Given the description of an element on the screen output the (x, y) to click on. 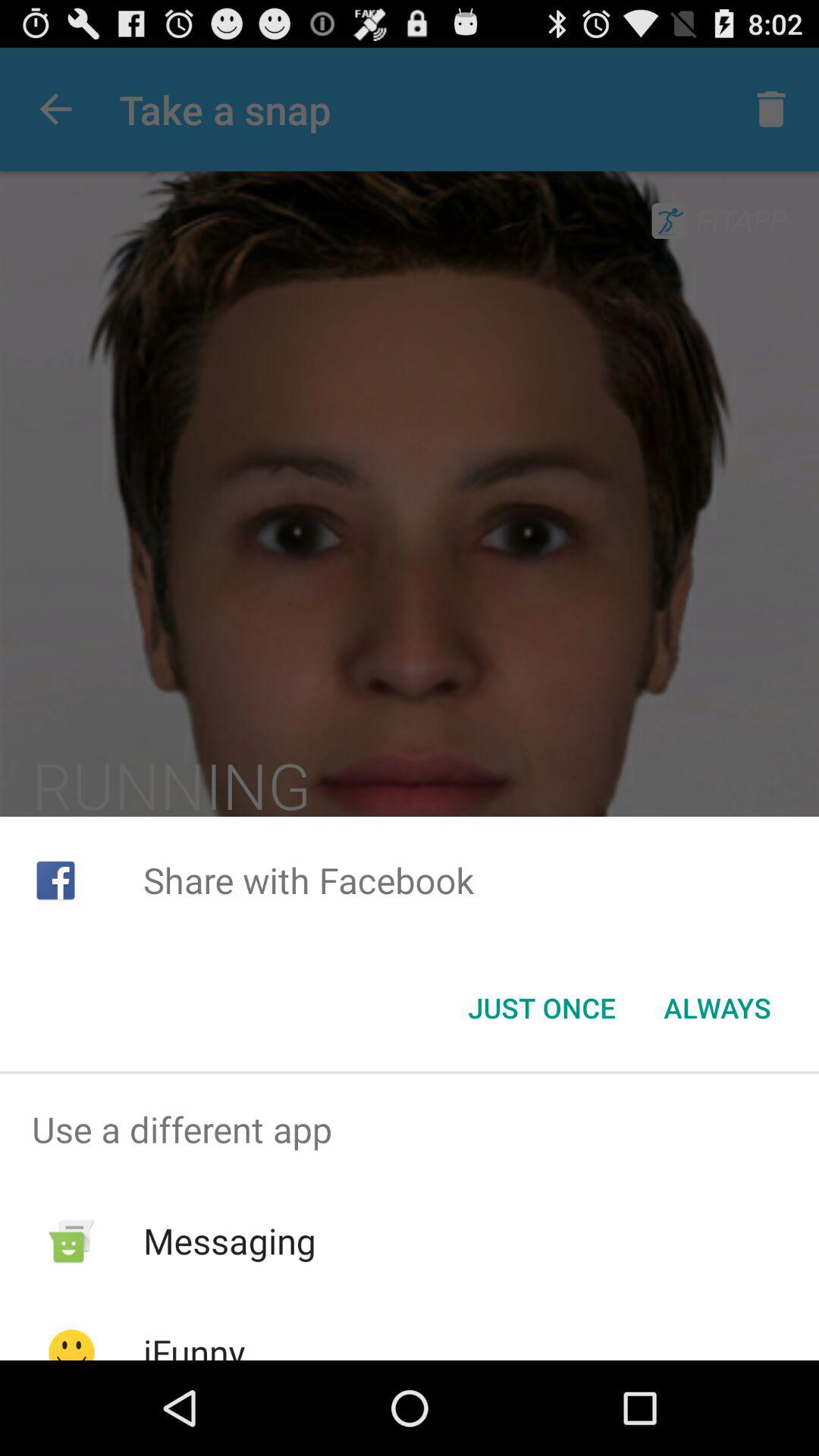
select icon above the ifunny item (229, 1240)
